Given the description of an element on the screen output the (x, y) to click on. 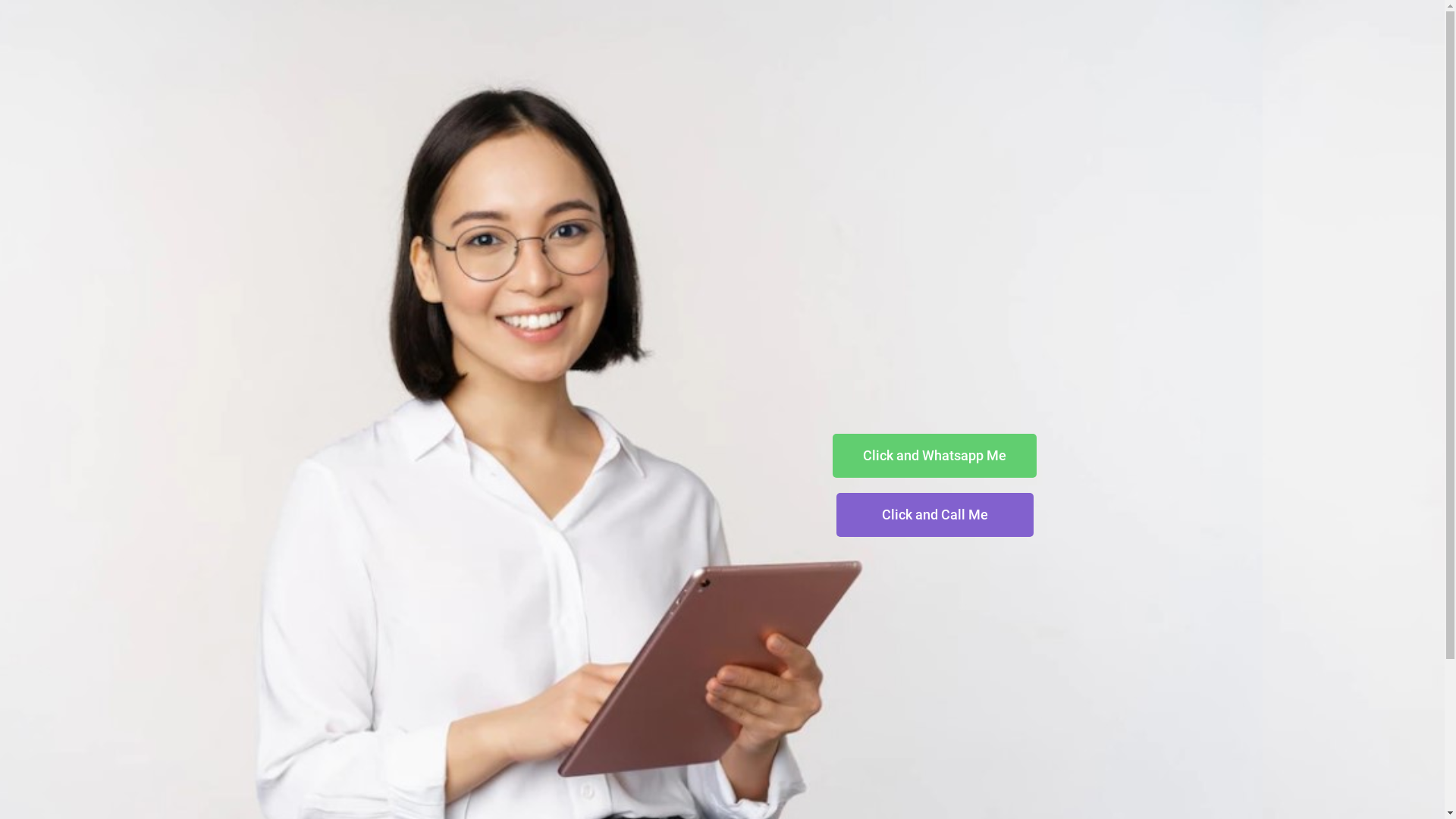
Click and Whatsapp Me Element type: text (934, 455)
Click and Call Me Element type: text (933, 514)
